Given the description of an element on the screen output the (x, y) to click on. 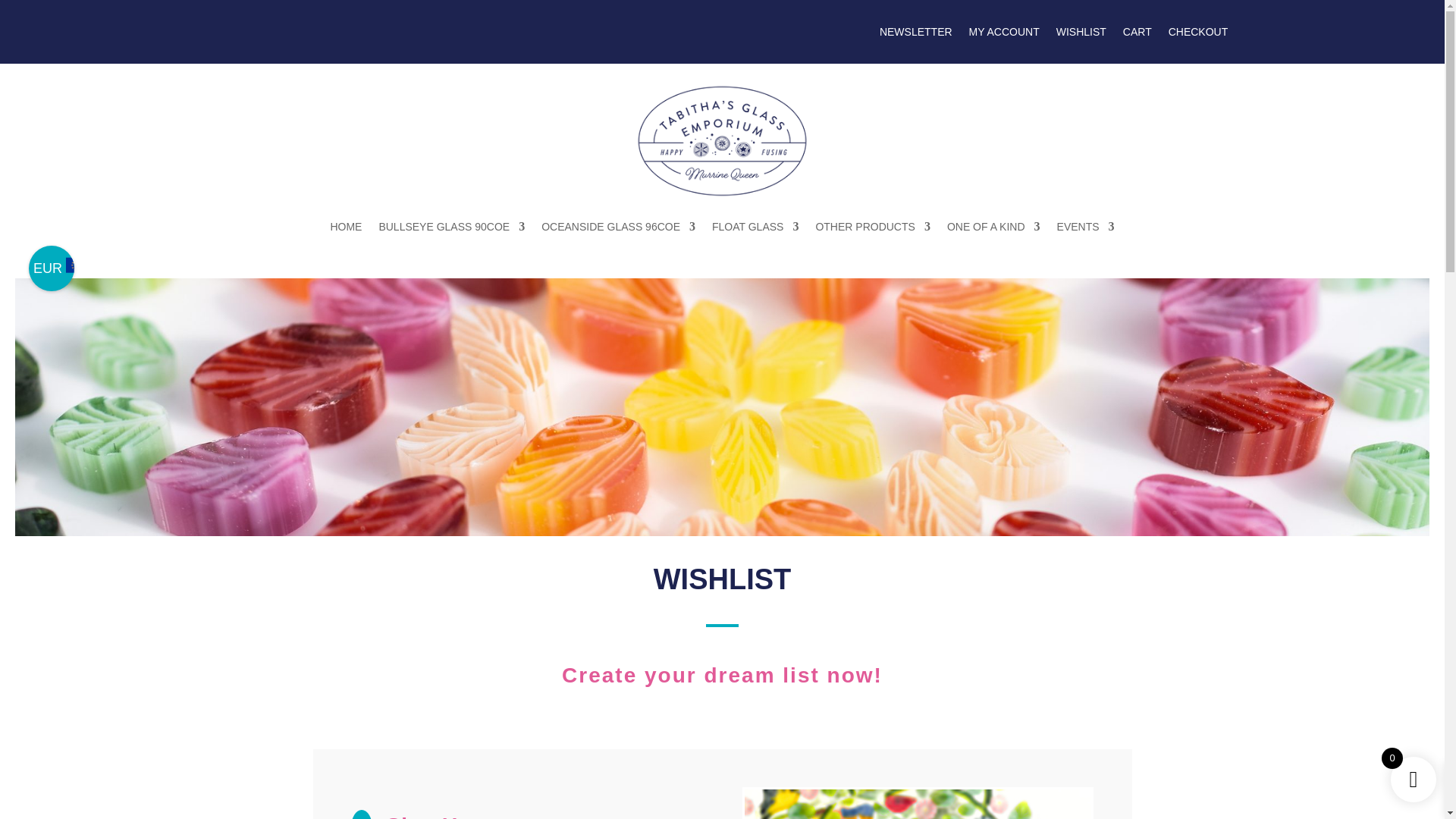
comissions bunny (917, 804)
CHECKOUT (1198, 34)
NEWSLETTER (915, 34)
BULLSEYE GLASS 90COE (451, 226)
MY ACCOUNT (1004, 34)
CART (1136, 34)
WISHLIST (1081, 34)
